Given the description of an element on the screen output the (x, y) to click on. 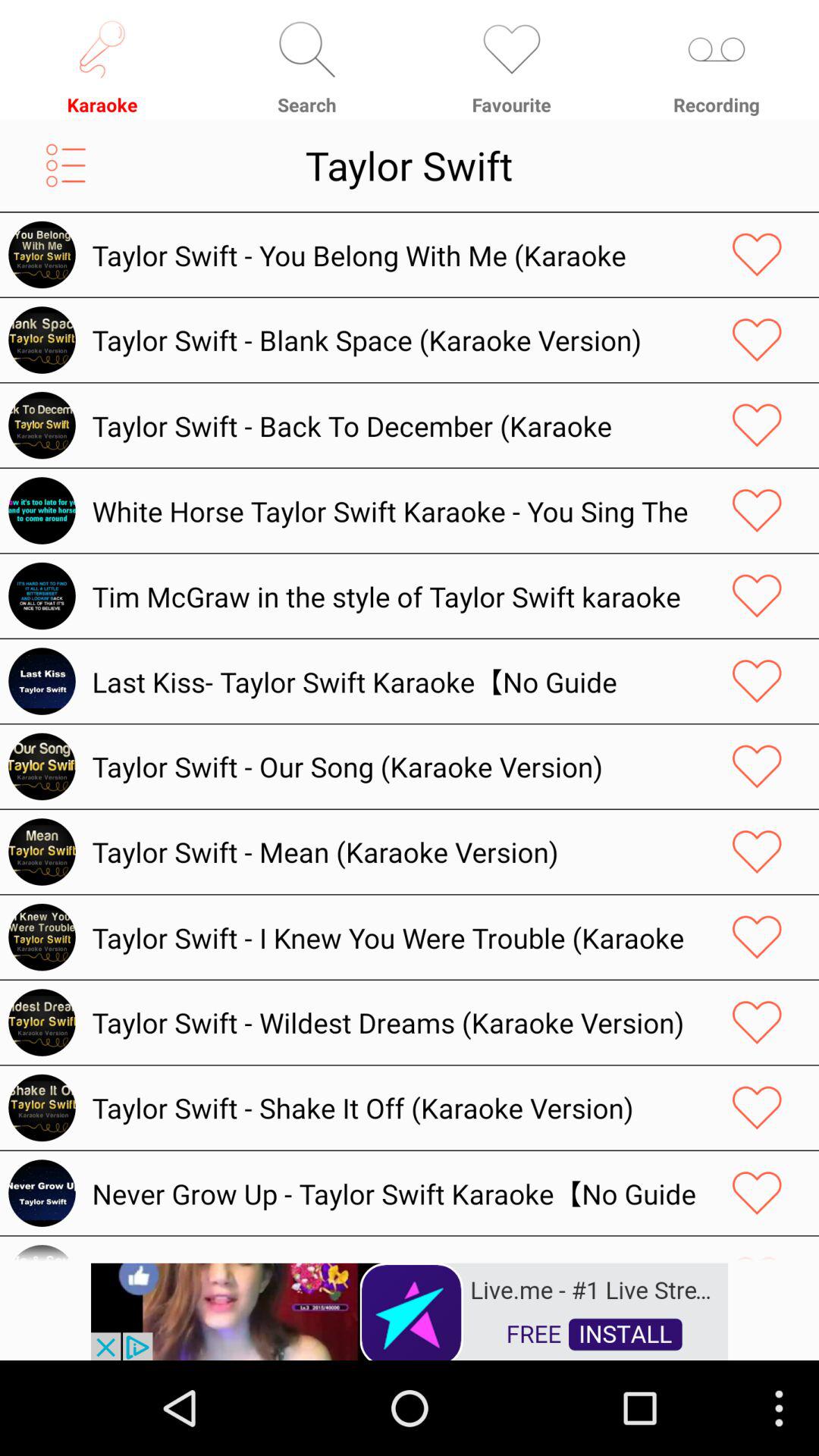
toggle favorite (756, 254)
